Given the description of an element on the screen output the (x, y) to click on. 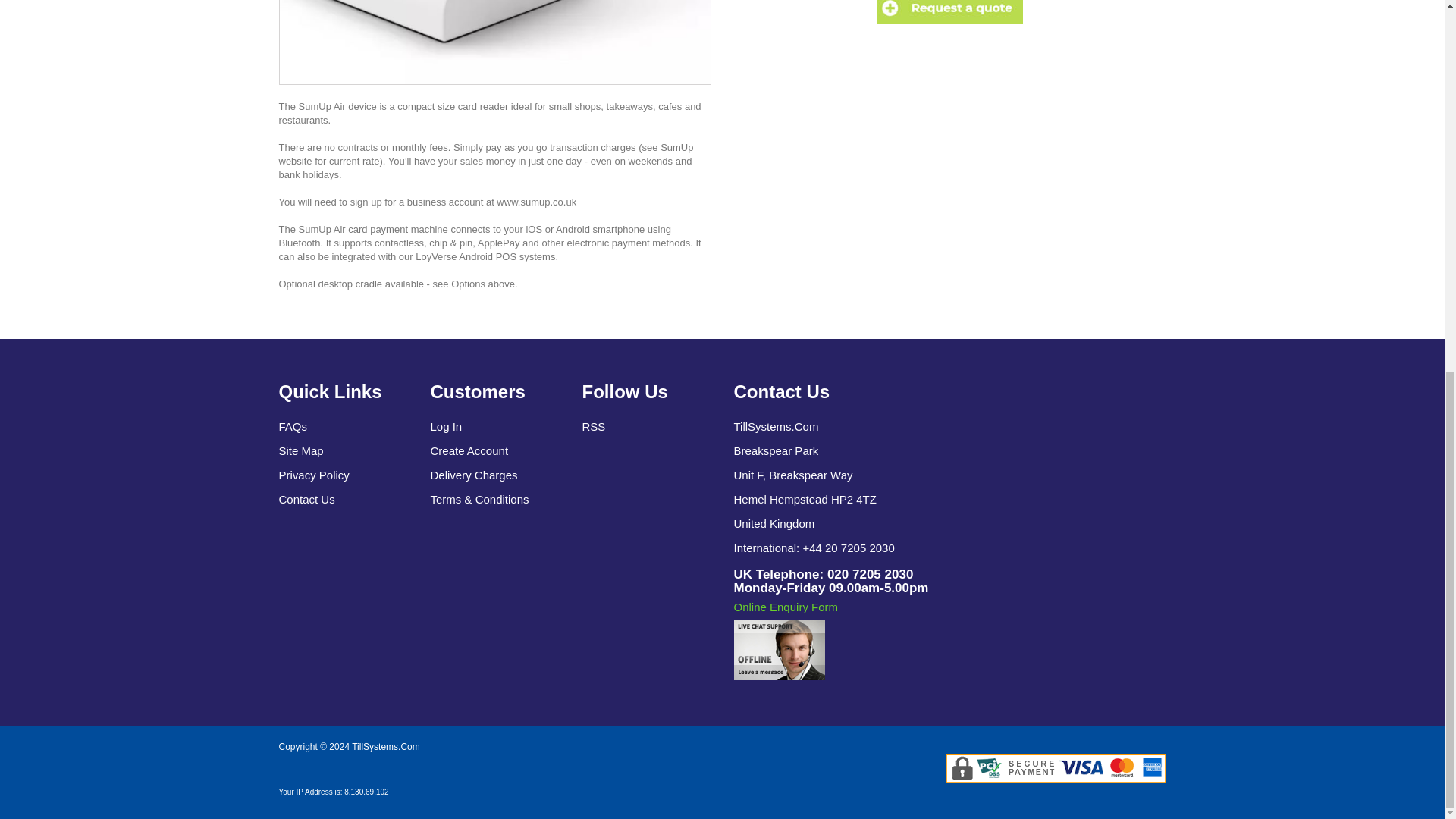
FAQs (293, 426)
Privacy Policy (314, 474)
Contact Us (306, 499)
Live Chat Support Offline (779, 649)
Create Account (469, 450)
Site Map (301, 450)
Delivery Charges (474, 474)
Online Enquiry Form (785, 606)
 SumUp Air Card Payment Device  (494, 42)
TillSystems.Com (386, 747)
